Given the description of an element on the screen output the (x, y) to click on. 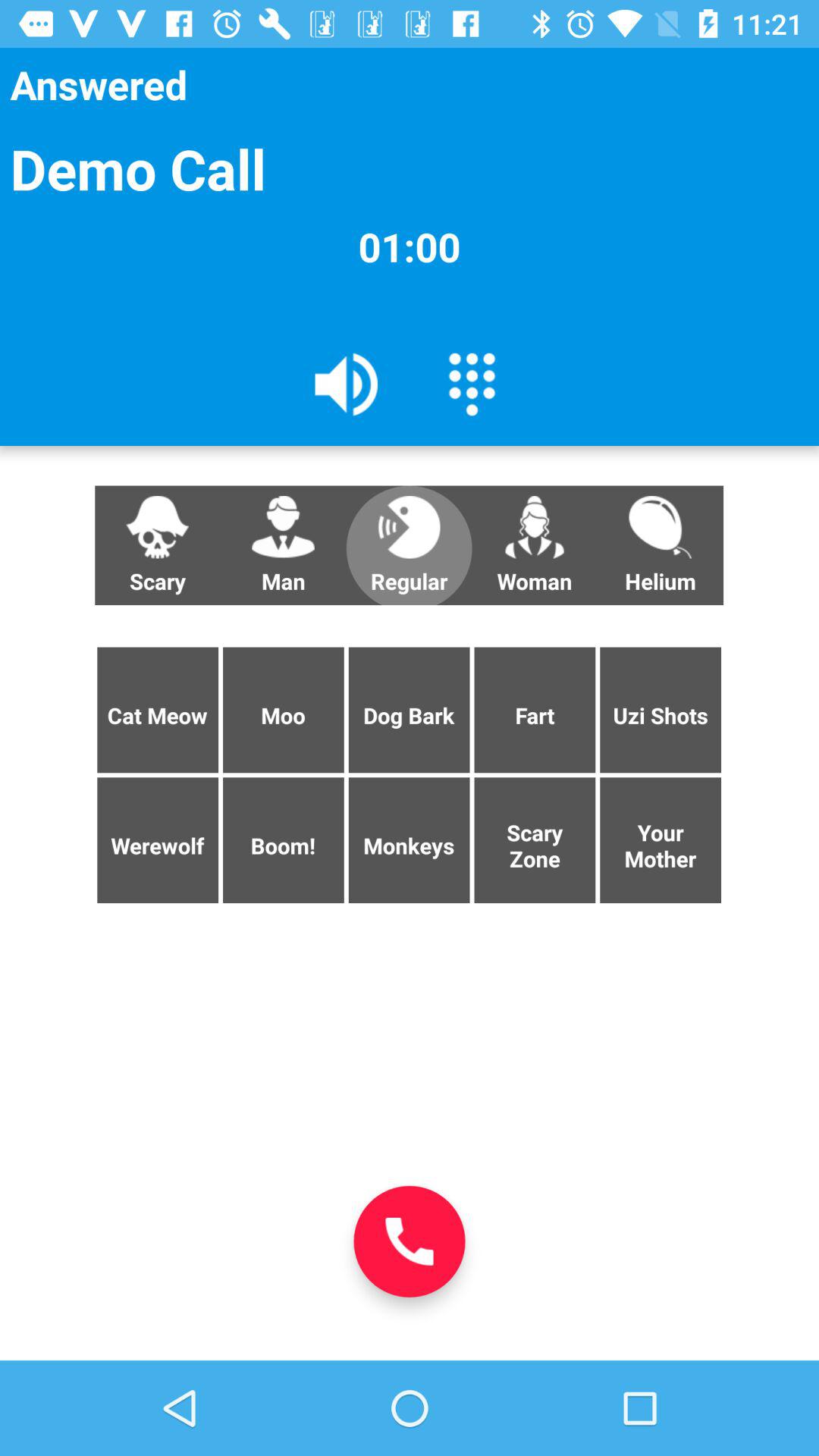
flip to the man button (283, 545)
